Given the description of an element on the screen output the (x, y) to click on. 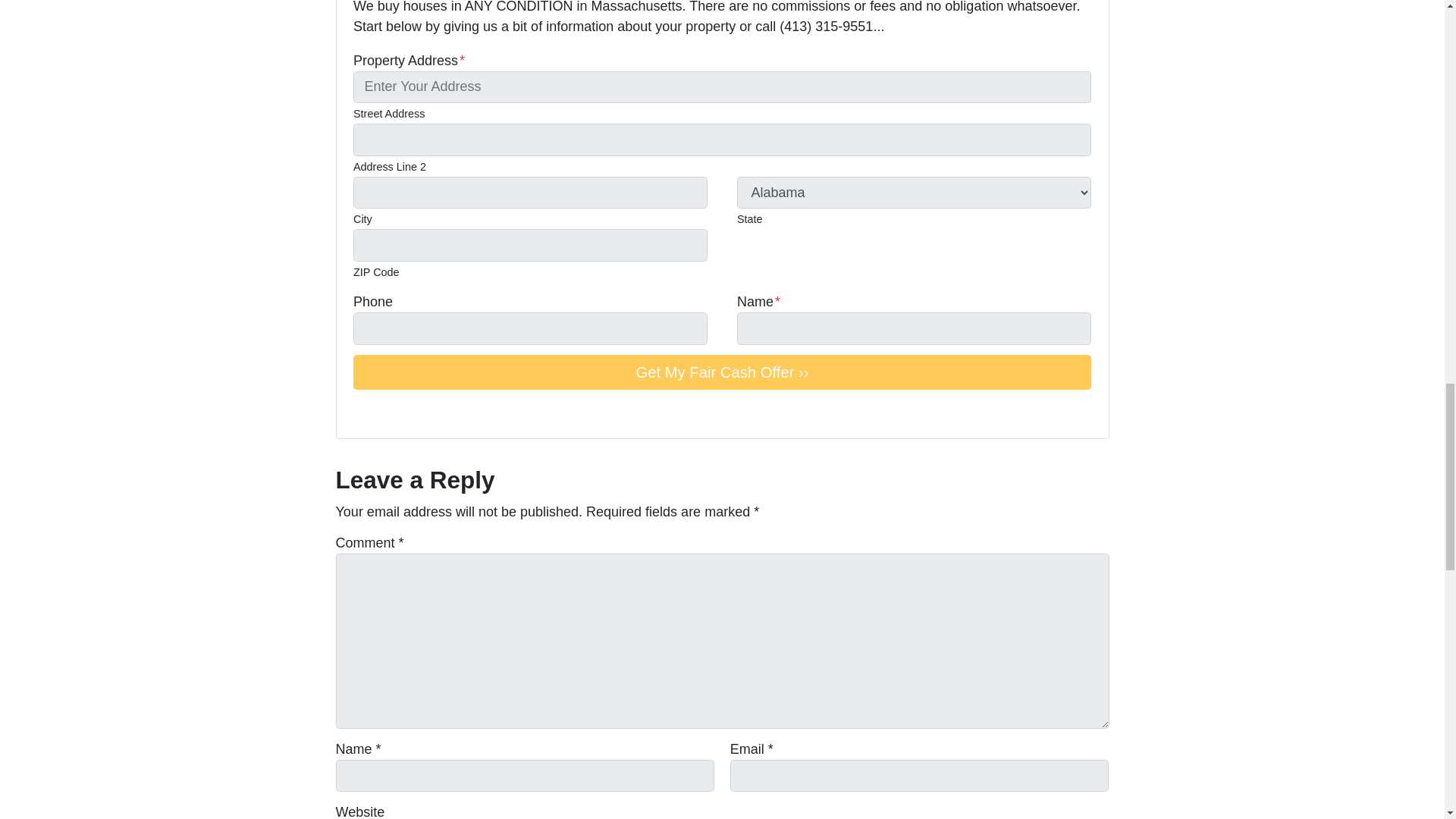
Facebook (362, 412)
Instagram (425, 412)
YouTube (383, 412)
LinkedIn (404, 412)
